Given the description of an element on the screen output the (x, y) to click on. 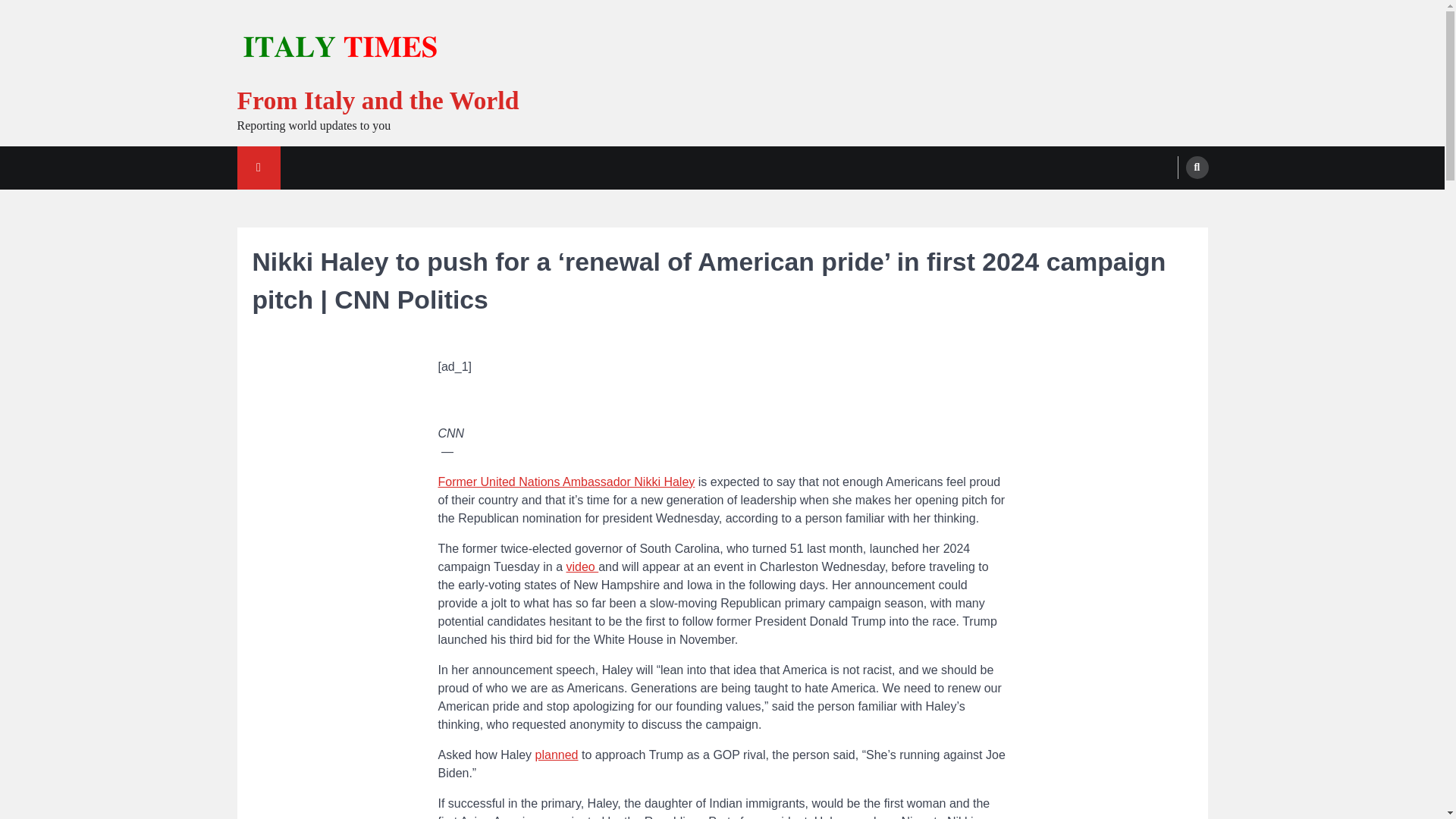
Search (1168, 203)
video (582, 566)
From Italy and the World (376, 100)
Search (1197, 167)
Former United Nations Ambassador Nikki Haley (566, 481)
planned (556, 754)
